Given the description of an element on the screen output the (x, y) to click on. 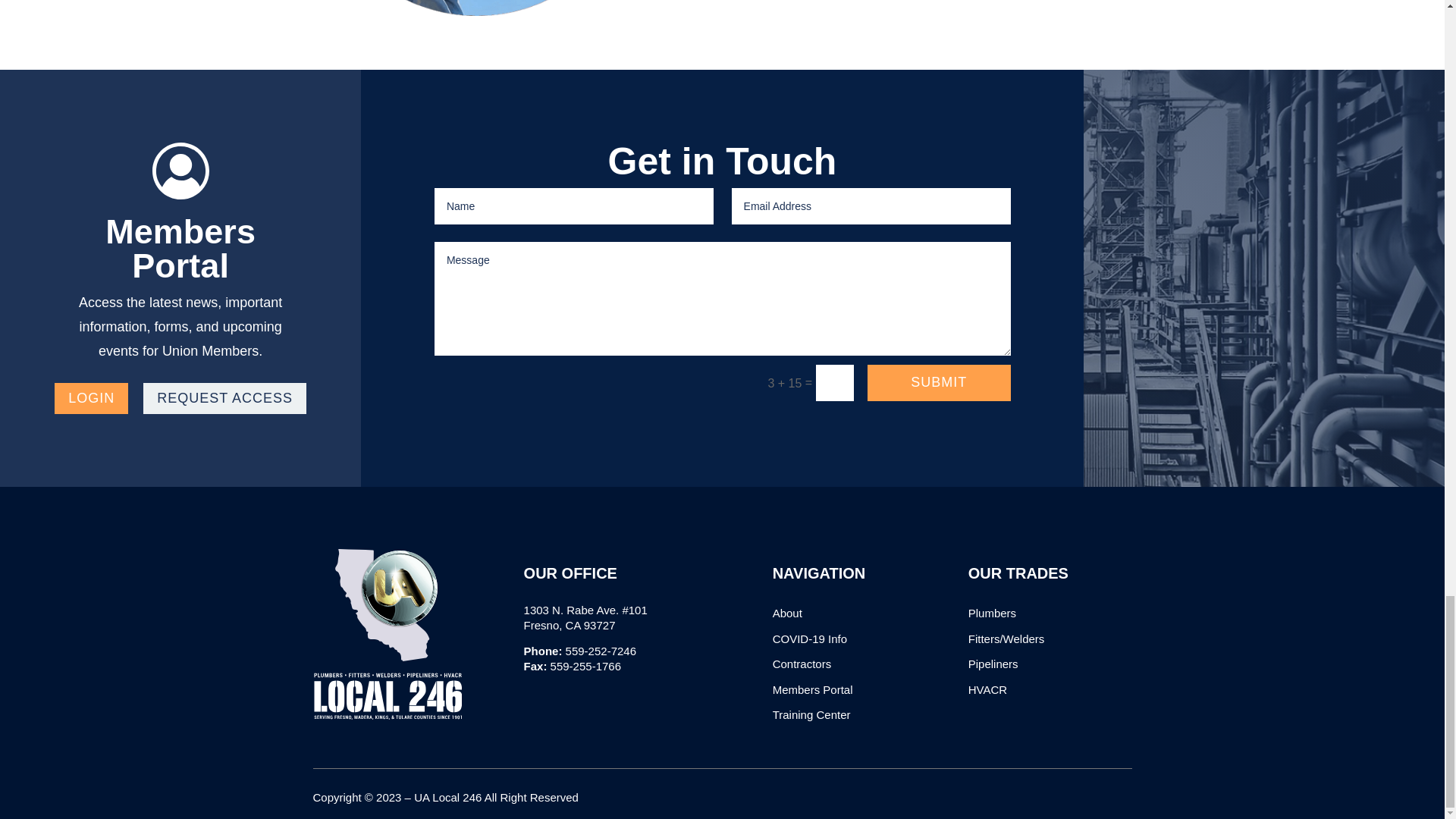
Login Icon (180, 170)
COVID-19 Info (810, 638)
REQUEST ACCESS (223, 398)
LOGIN (91, 398)
Contractors (802, 663)
SUBMIT (938, 382)
About (787, 612)
Members Portal (813, 689)
Training Center (811, 714)
UA Local 246 - Contractor (476, 7)
Plumbers (992, 612)
